Given the description of an element on the screen output the (x, y) to click on. 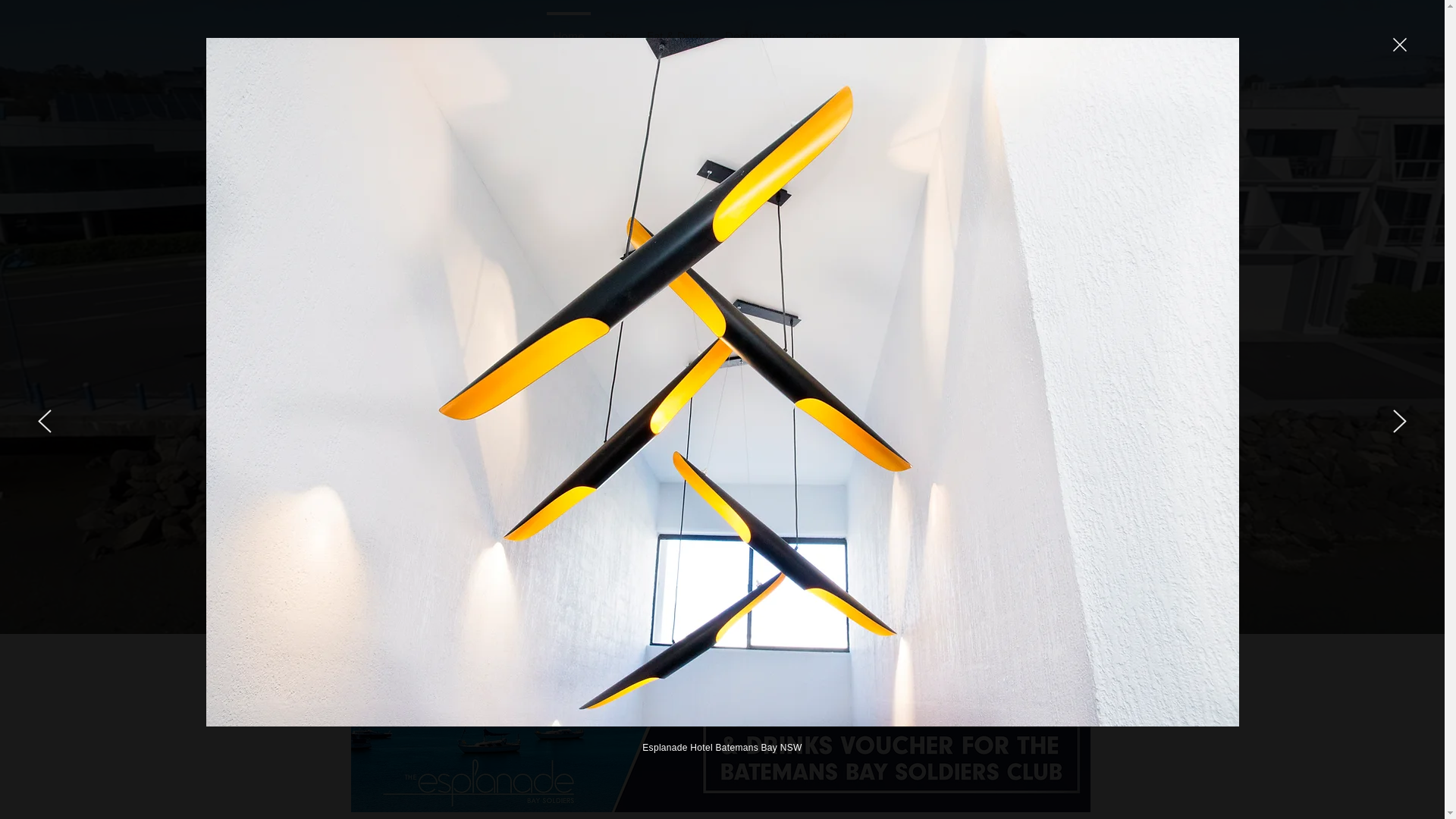
Contact Element type: text (825, 29)
Stay Element type: text (615, 29)
Home Element type: text (568, 29)
Eat & Drink Element type: text (676, 29)
Destination Element type: text (755, 29)
